Given the description of an element on the screen output the (x, y) to click on. 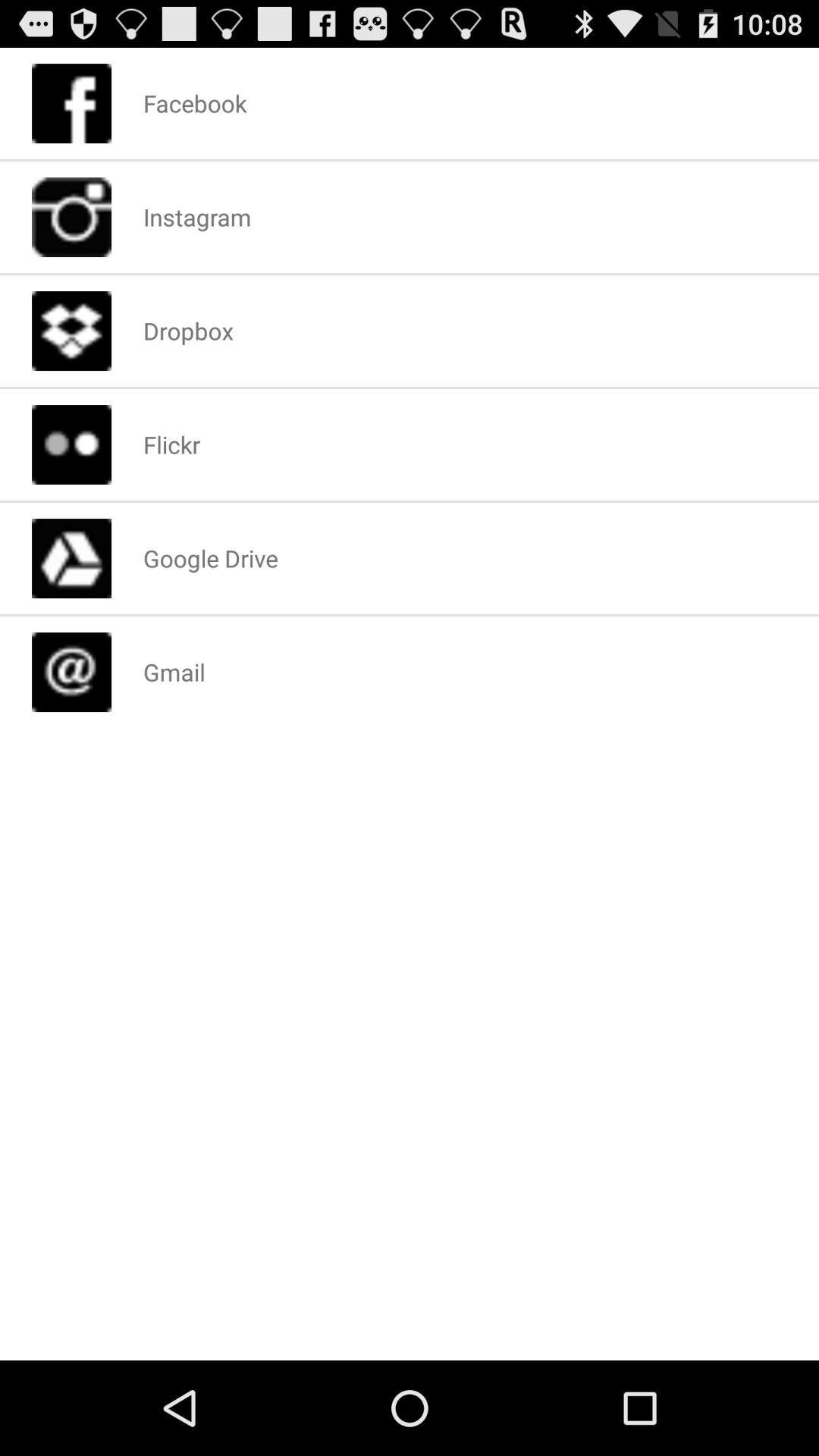
choose the app above google drive (171, 444)
